Given the description of an element on the screen output the (x, y) to click on. 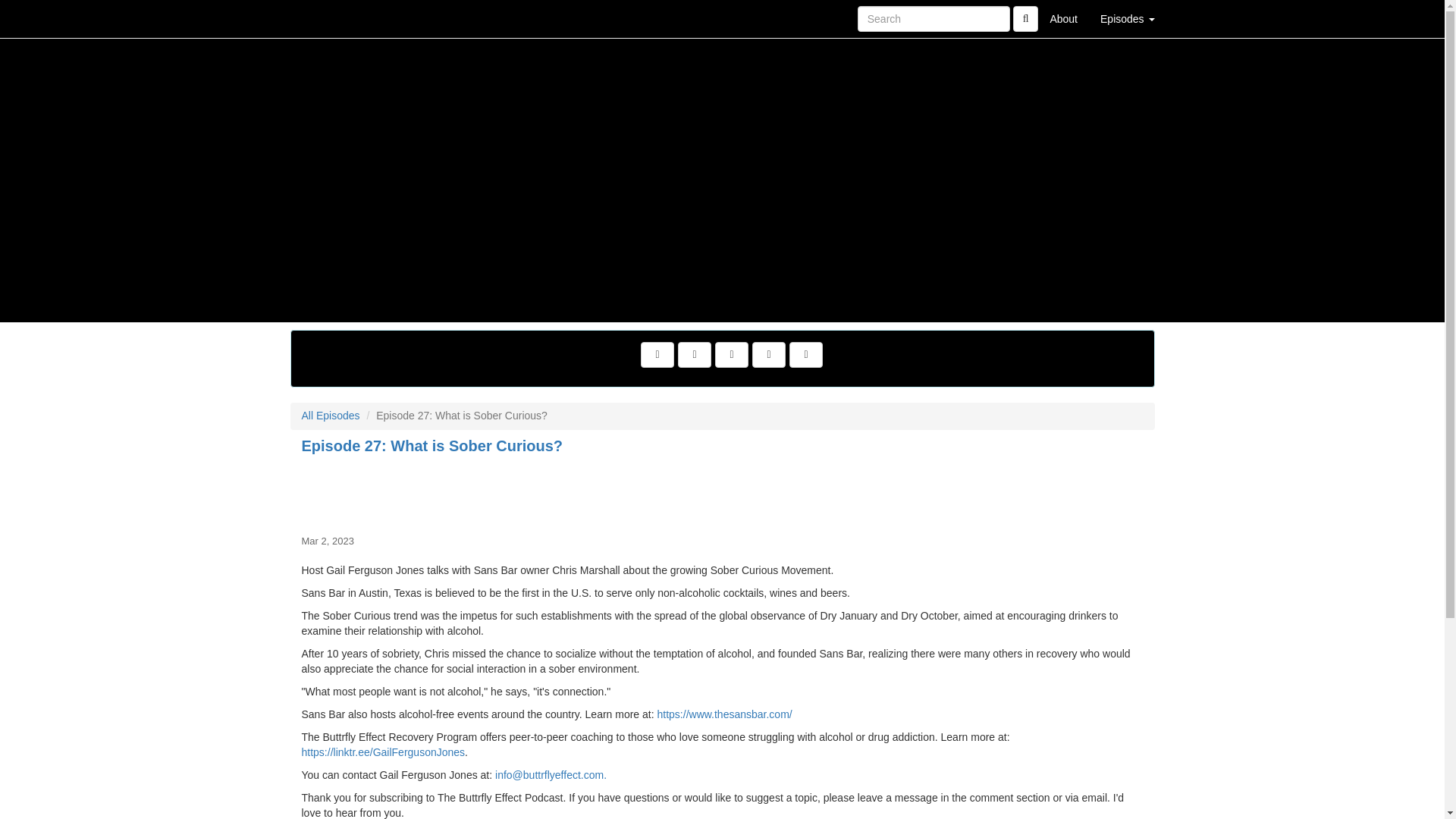
Home Page (320, 18)
About (1063, 18)
Episodes (1127, 18)
Episode 27: What is Sober Curious? (721, 491)
